Given the description of an element on the screen output the (x, y) to click on. 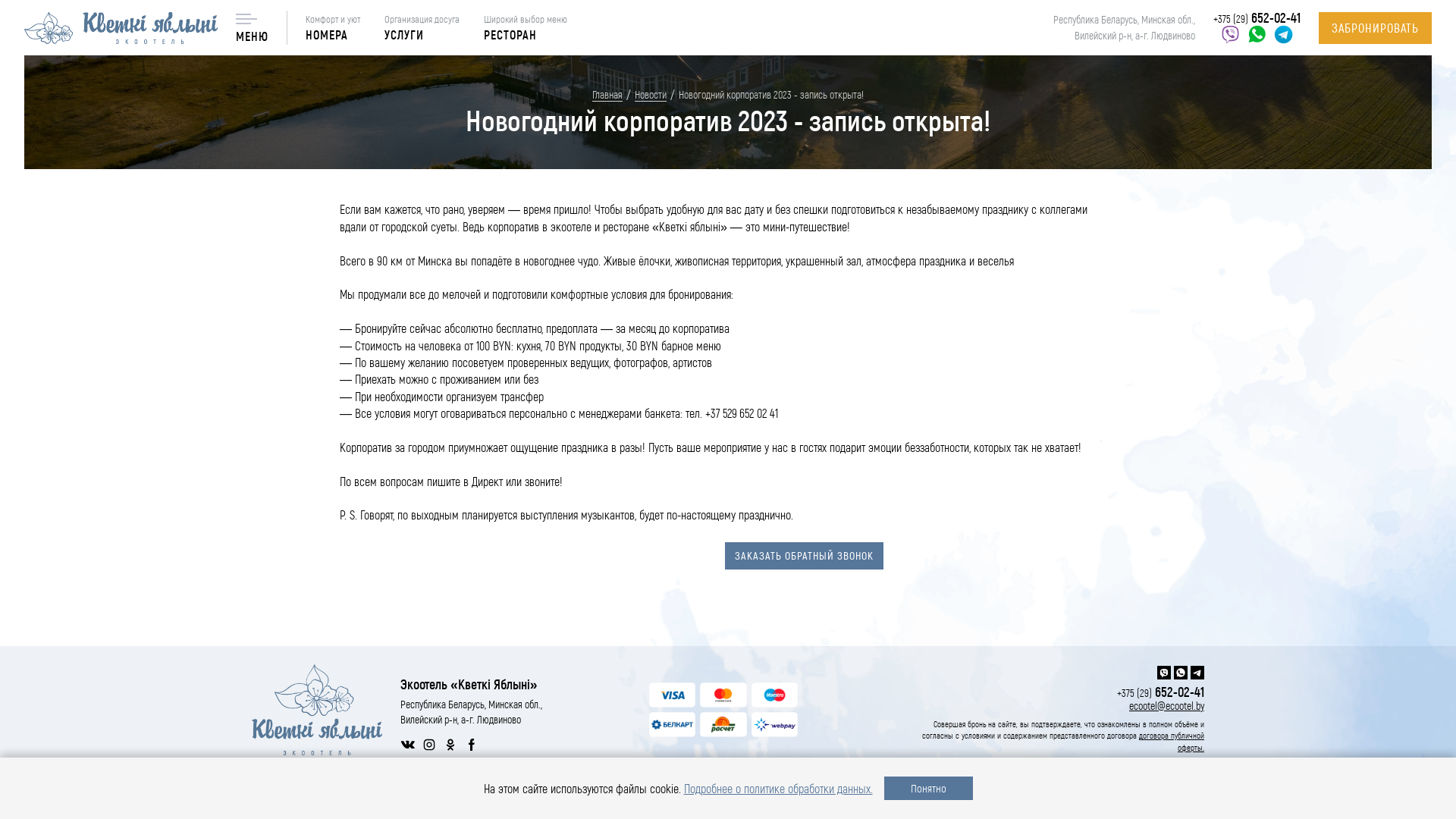
ecootel@ecootel.by Element type: text (1054, 705)
+375 (29)
652-02-41 Element type: text (1063, 692)
Telegram Element type: hover (1283, 34)
+375 (29)
652-02-41 Element type: text (1256, 18)
